Given the description of an element on the screen output the (x, y) to click on. 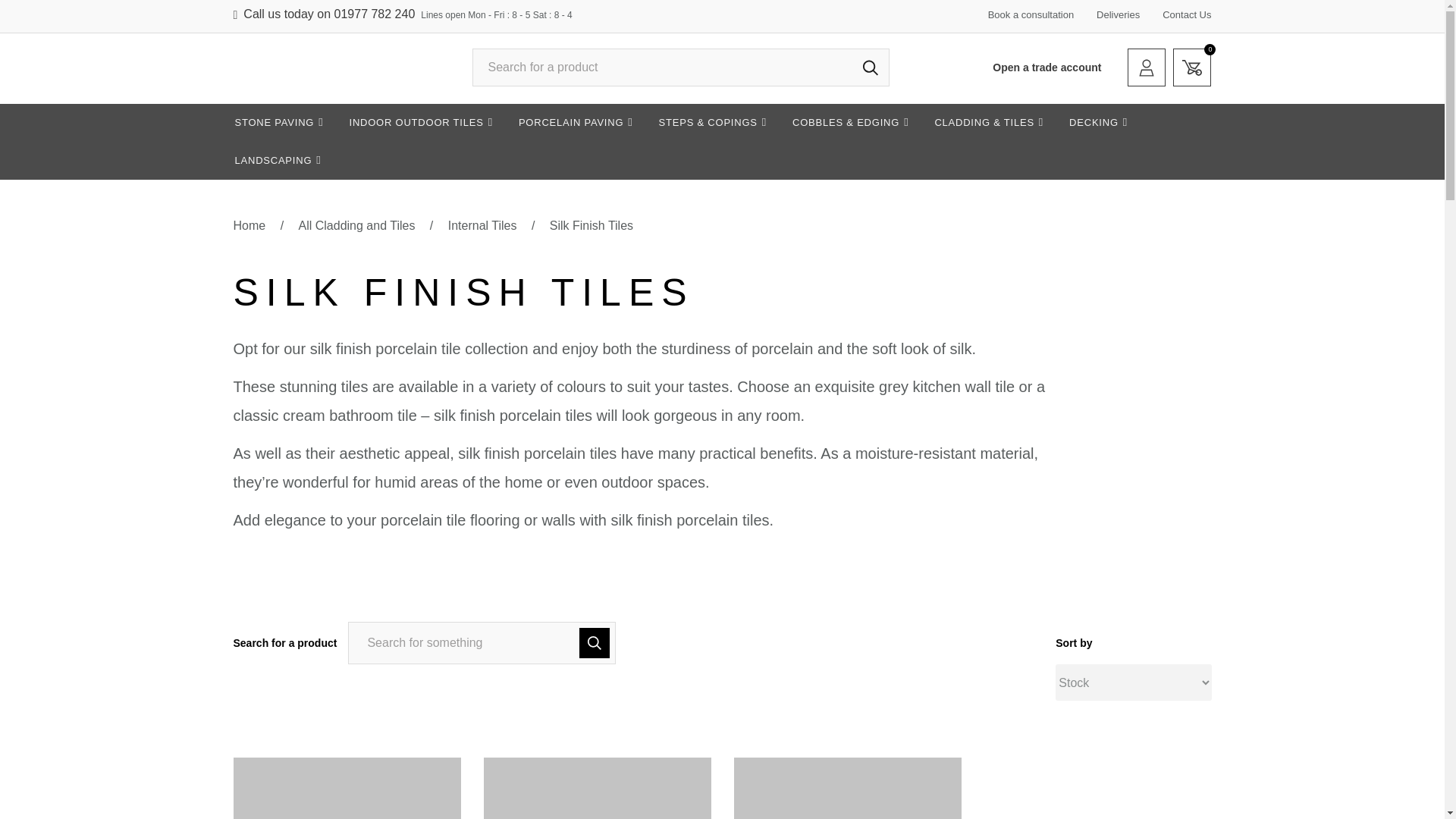
Stone Paving (278, 122)
Porcelain Paving (575, 122)
Contact Us (1186, 14)
STONE PAVING (278, 122)
01977 782 240 (374, 13)
Indoor Outdoor Tiles (420, 122)
My Account (1146, 67)
Search for: (679, 67)
PORCELAIN PAVING (1192, 67)
